Given the description of an element on the screen output the (x, y) to click on. 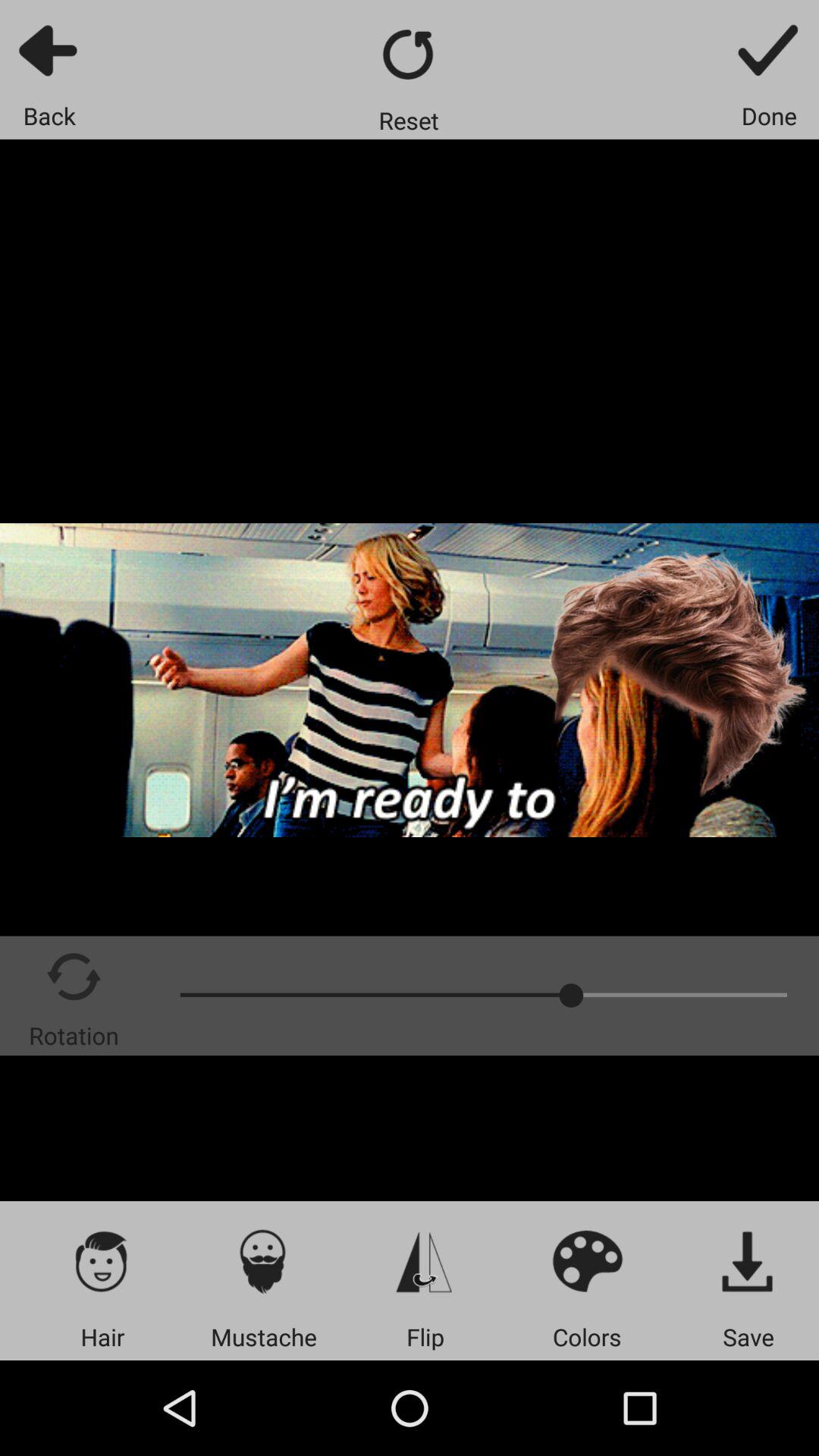
select the item above the done (769, 49)
